Given the description of an element on the screen output the (x, y) to click on. 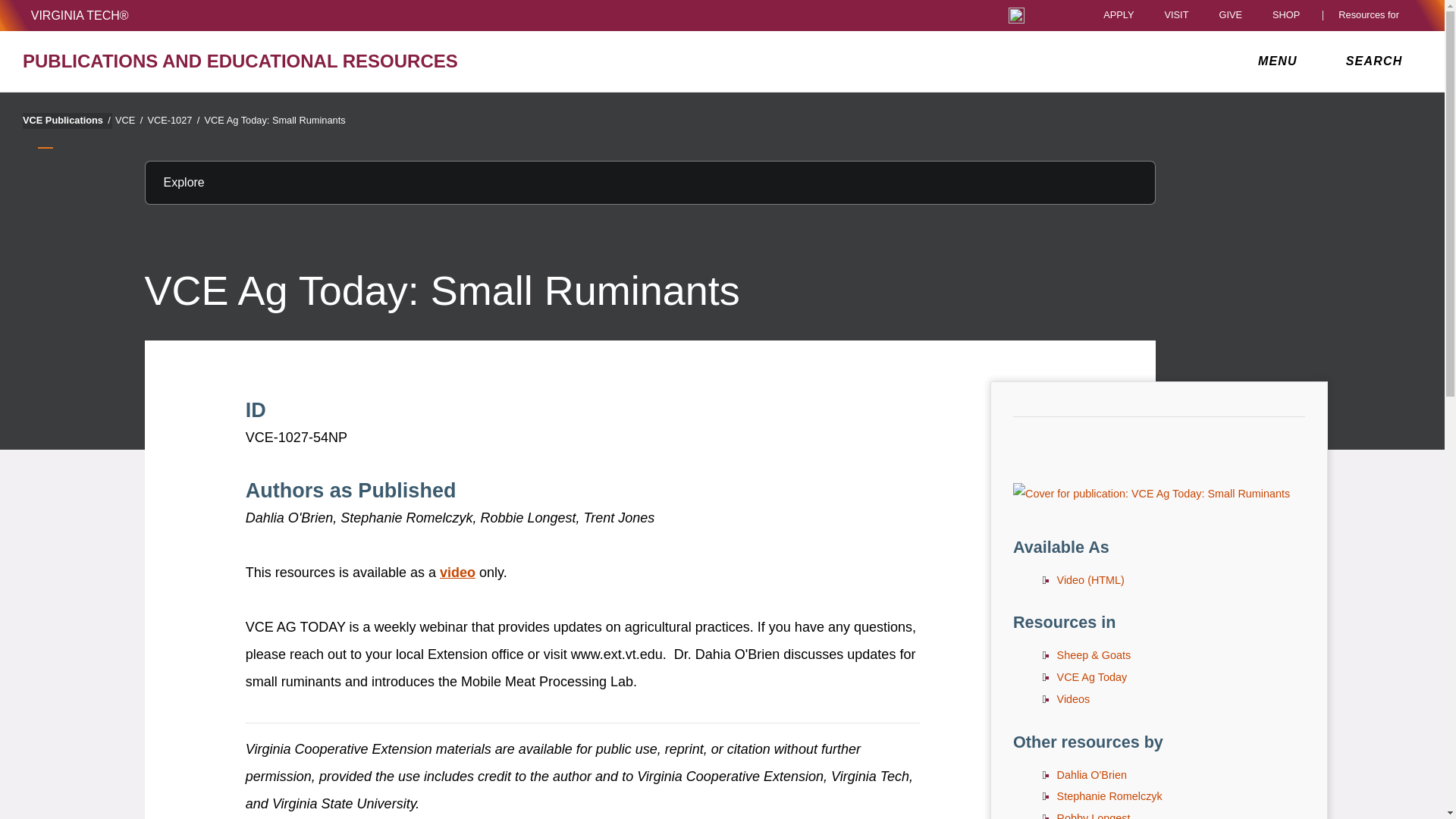
SHOP (1289, 15)
MENU (1280, 61)
APPLY (1118, 15)
Resources for (1372, 15)
VCE Ag Today: Small Ruminants (1151, 494)
PUBLICATIONS AND EDUCATIONAL RESOURCES (250, 60)
GIVE (1229, 15)
VISIT (1175, 15)
Universal Access Toggle (1017, 15)
